Given the description of an element on the screen output the (x, y) to click on. 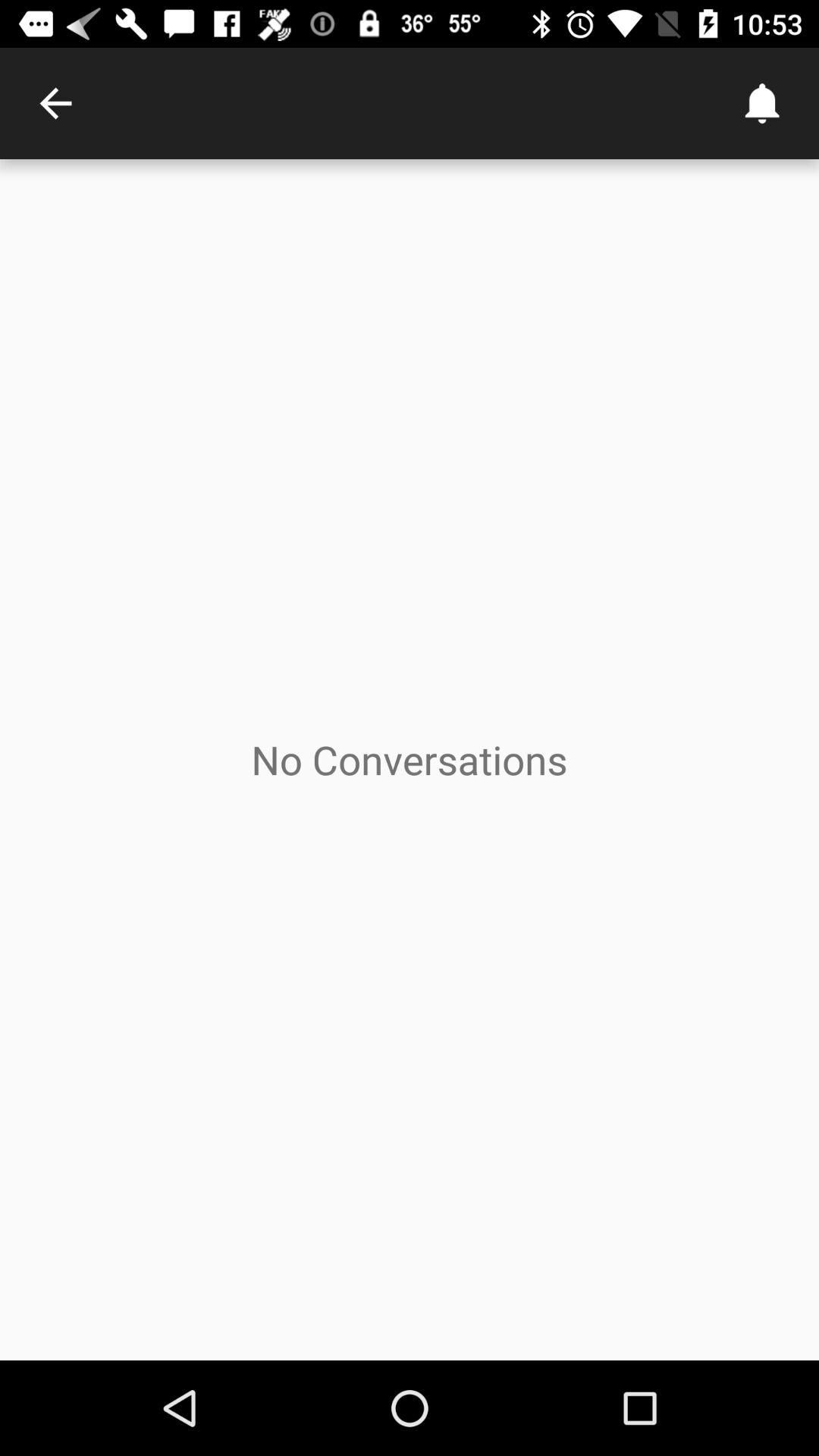
turn on the item above the no conversations (55, 103)
